Given the description of an element on the screen output the (x, y) to click on. 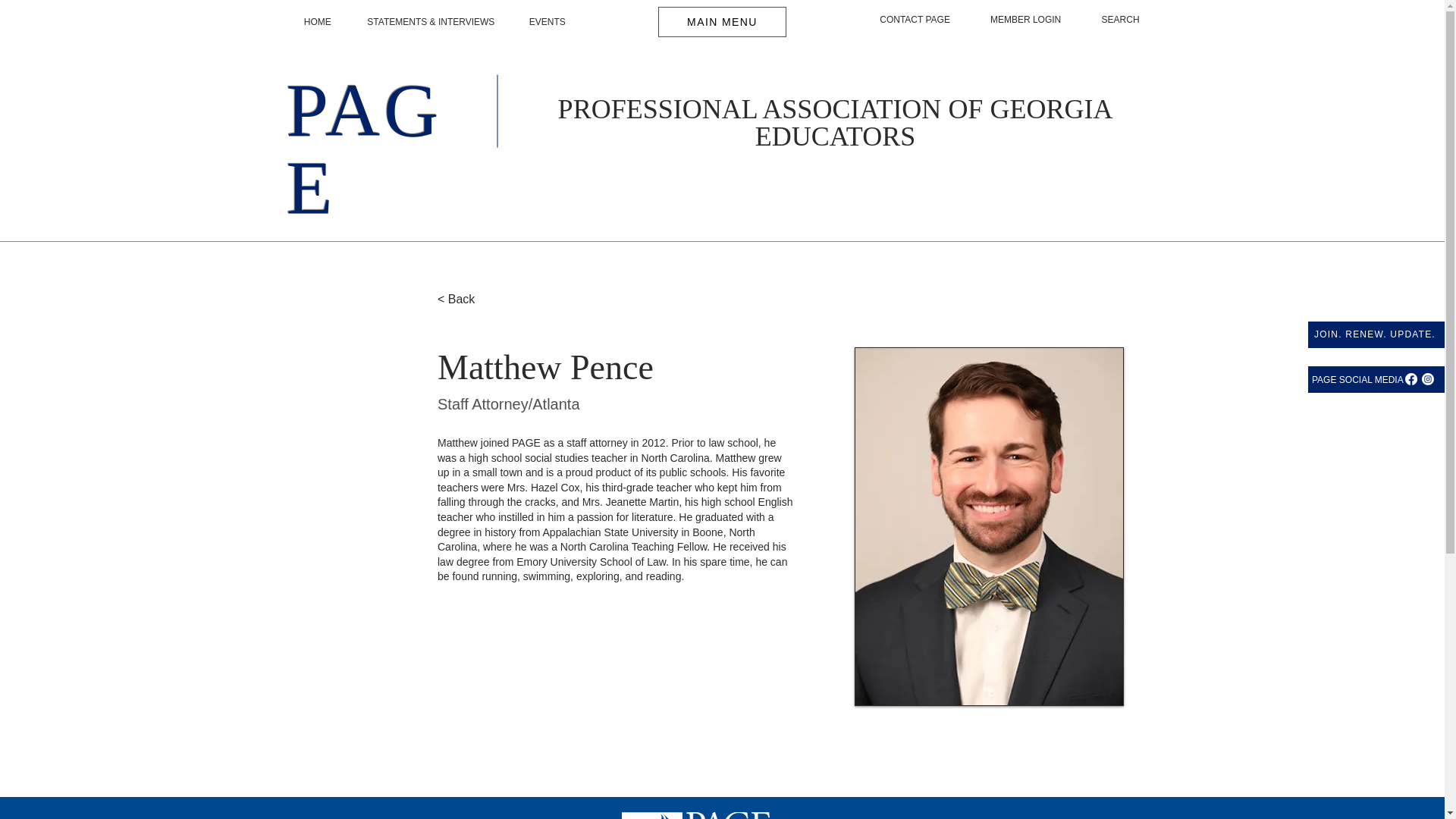
EVENTS (547, 22)
HOME (316, 22)
